Given the description of an element on the screen output the (x, y) to click on. 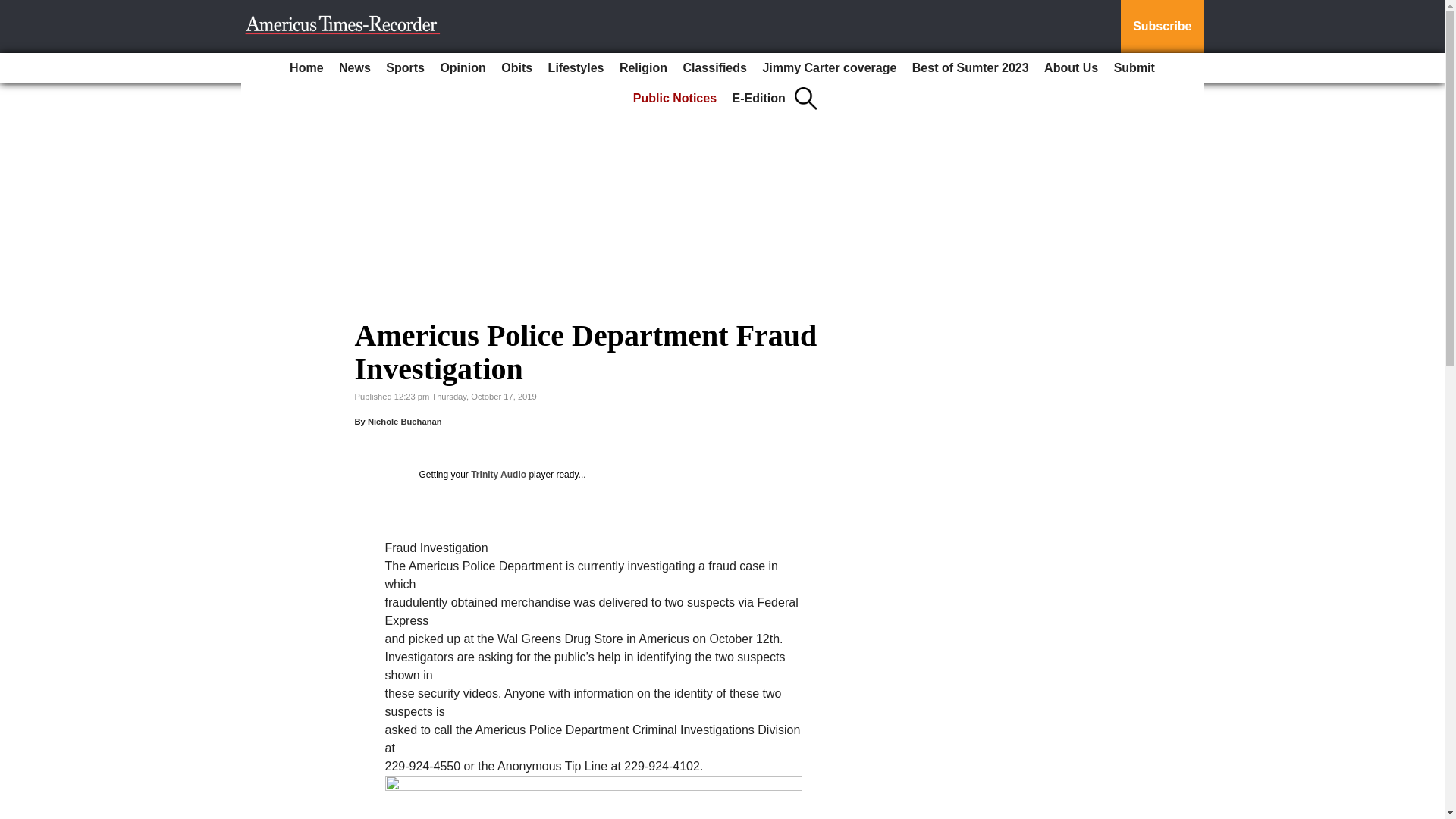
Public Notices (674, 98)
Lifestyles (575, 68)
Trinity Audio (497, 474)
E-Edition (759, 98)
Best of Sumter 2023 (970, 68)
Submit (1134, 68)
Sports (405, 68)
Go (13, 9)
News (355, 68)
Obits (516, 68)
Nichole Buchanan (405, 420)
Classifieds (714, 68)
Jimmy Carter coverage (828, 68)
Home (306, 68)
Religion (642, 68)
